Given the description of an element on the screen output the (x, y) to click on. 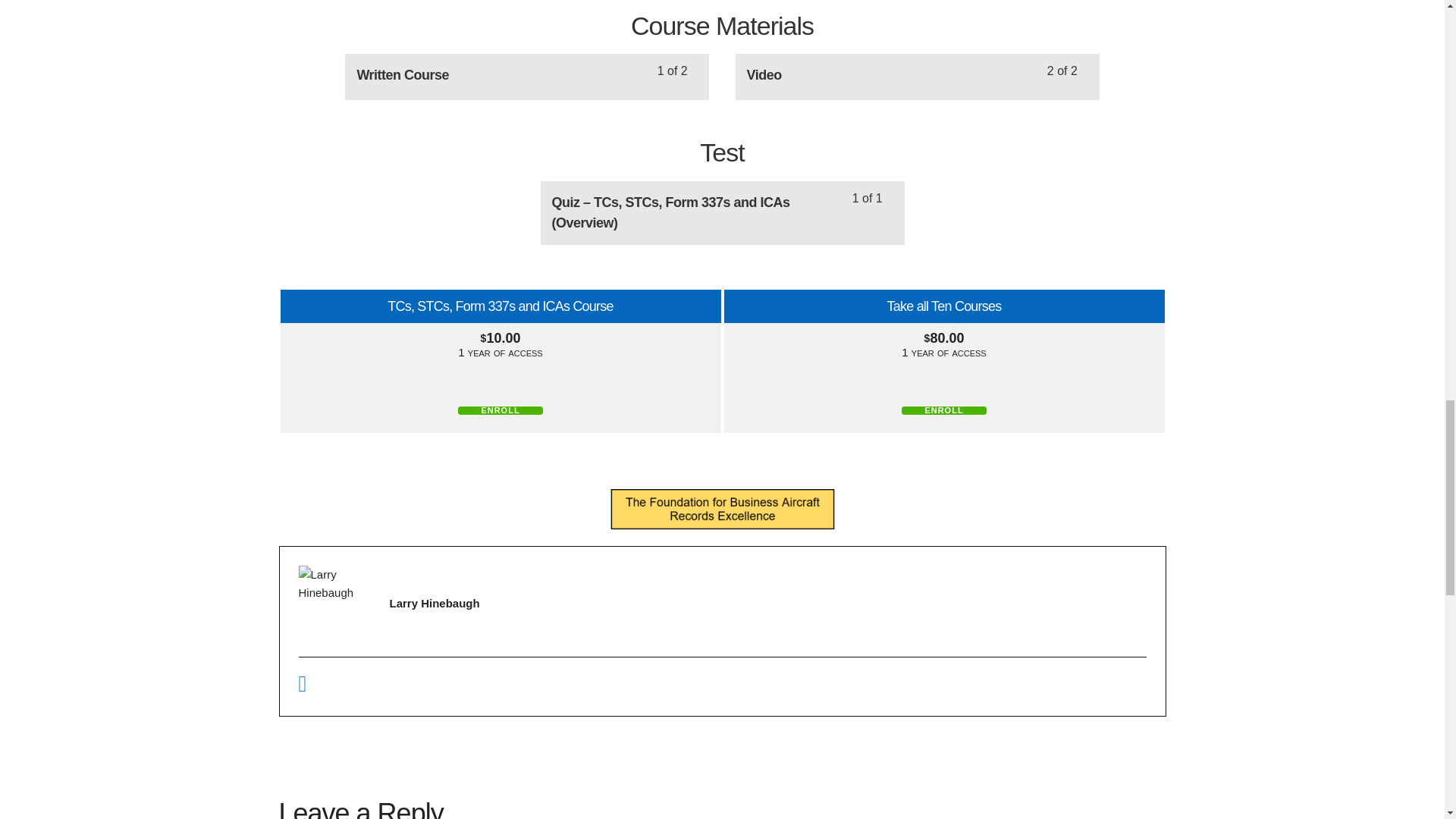
ENROLL (917, 76)
ENROLL (527, 76)
